Given the description of an element on the screen output the (x, y) to click on. 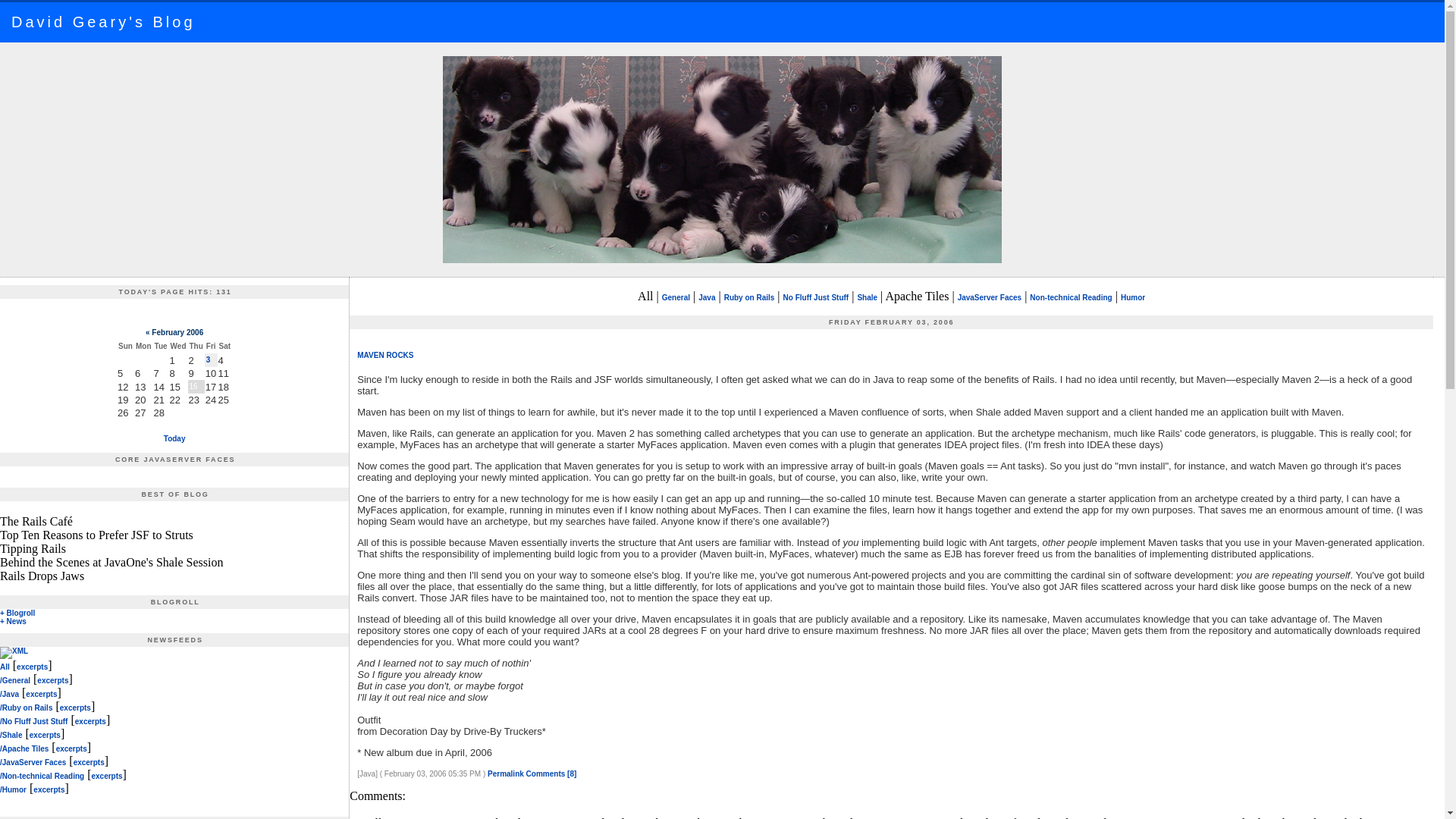
General (676, 297)
Java (706, 297)
Permalink (505, 773)
No Fluff Just Stuff (815, 297)
excerpts (52, 680)
Shale (867, 297)
Non-technical Reading (1070, 297)
JavaServer Faces (990, 297)
All (5, 666)
excerpts (32, 666)
